Given the description of an element on the screen output the (x, y) to click on. 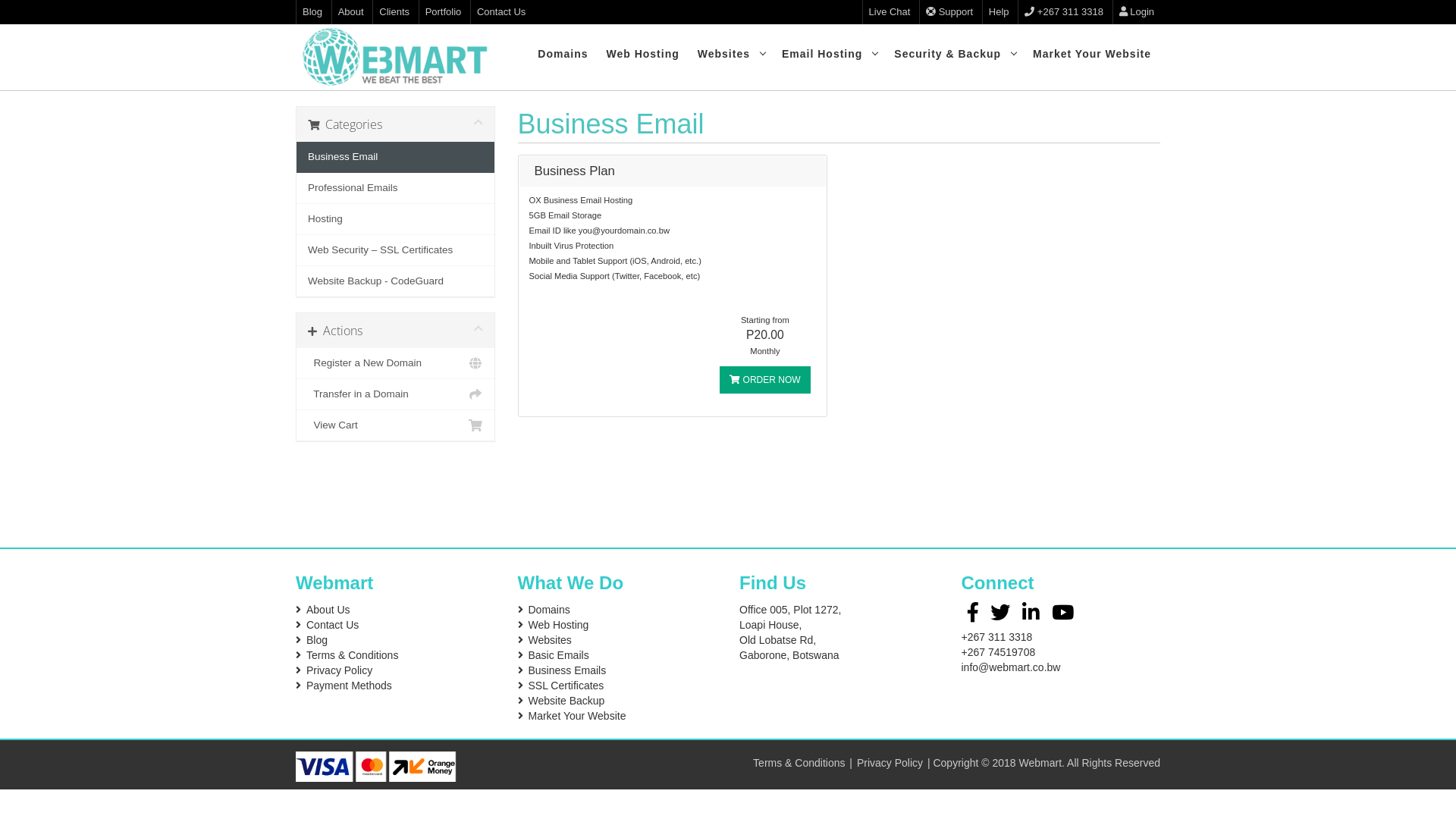
Blog Element type: text (316, 639)
Professional Emails Element type: text (395, 187)
Business Email Element type: text (395, 156)
Market Your Website Element type: text (1091, 53)
Contact Us Element type: text (332, 624)
Web Hosting Element type: text (641, 53)
Hosting Element type: text (395, 219)
Privacy Policy Element type: text (889, 762)
Privacy Policy Element type: text (339, 670)
Security & Backup Element type: text (953, 53)
Domains Element type: text (548, 609)
Web Hosting Element type: text (557, 624)
Contact Us Element type: text (500, 11)
  Register a New Domain Element type: text (395, 363)
ORDER NOW Element type: text (764, 379)
Help Element type: text (998, 11)
Blog Element type: text (312, 11)
Portfolio Element type: text (443, 11)
Login Element type: text (1136, 11)
Clients Element type: text (394, 11)
Terms & Conditions Element type: text (352, 655)
Basic Emails Element type: text (557, 655)
  View Cart Element type: text (395, 425)
Live Chat Element type: text (889, 11)
Websites Element type: text (730, 53)
About Element type: text (351, 11)
Support Element type: text (948, 11)
Payment Methods Element type: text (349, 685)
Email Hosting Element type: text (828, 53)
  Transfer in a Domain Element type: text (395, 394)
Domains Element type: text (562, 53)
Website Backup - CodeGuard Element type: text (395, 281)
Website Backup Element type: text (565, 700)
Terms & Conditions Element type: text (798, 762)
SSL Certificates Element type: text (565, 685)
Websites Element type: text (549, 639)
Business Emails Element type: text (566, 670)
Market Your Website Element type: text (576, 715)
About Us Element type: text (328, 609)
